Given the description of an element on the screen output the (x, y) to click on. 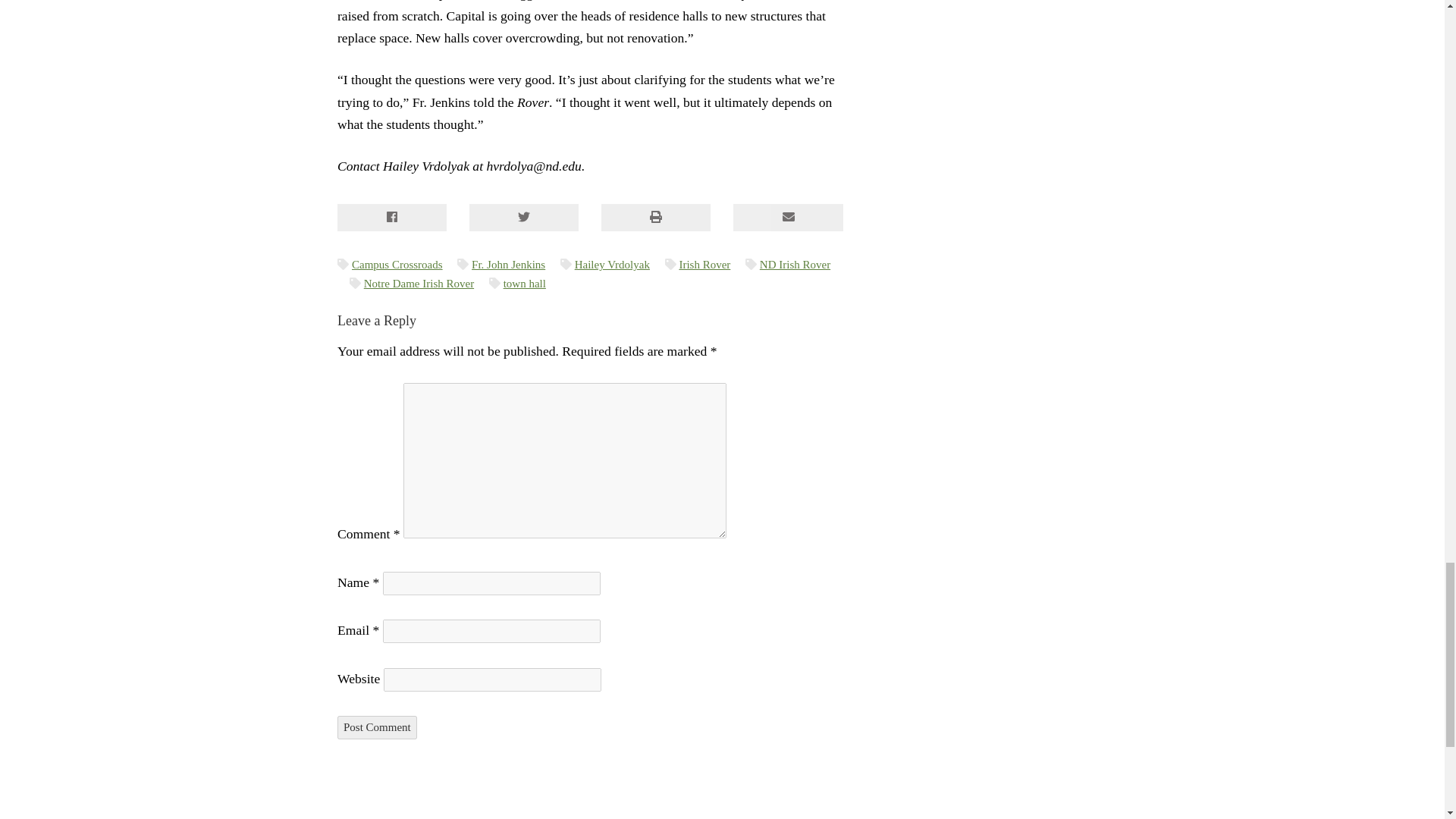
Post Comment (376, 727)
Fr. John Jenkins (507, 264)
Notre Dame Irish Rover (419, 283)
town hall (524, 283)
Irish Rover (704, 264)
Post Comment (376, 727)
Hailey Vrdolyak (612, 264)
Campus Crossroads (397, 264)
ND Irish Rover (794, 264)
